Given the description of an element on the screen output the (x, y) to click on. 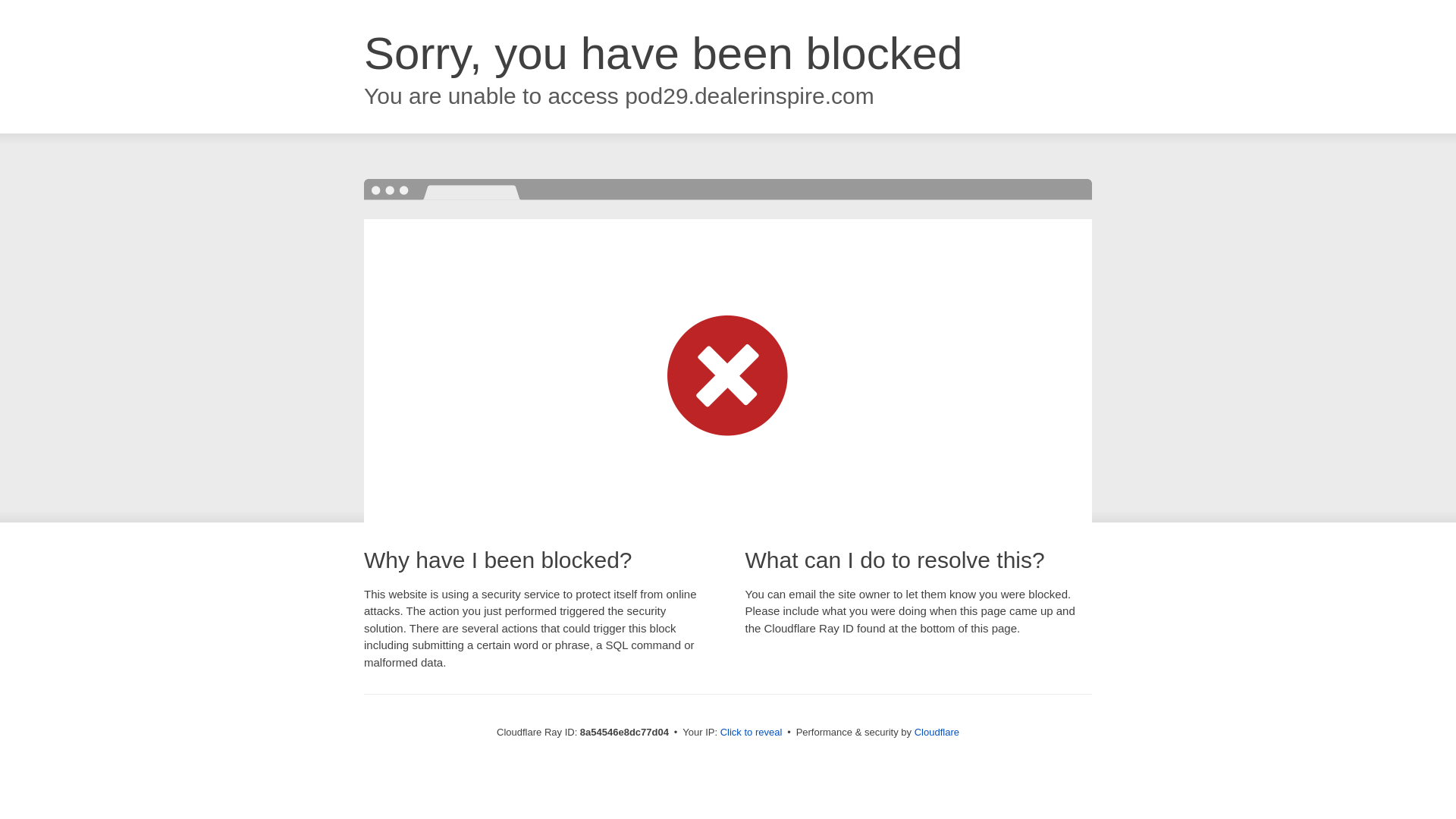
Click to reveal (751, 732)
Cloudflare (936, 731)
